Given the description of an element on the screen output the (x, y) to click on. 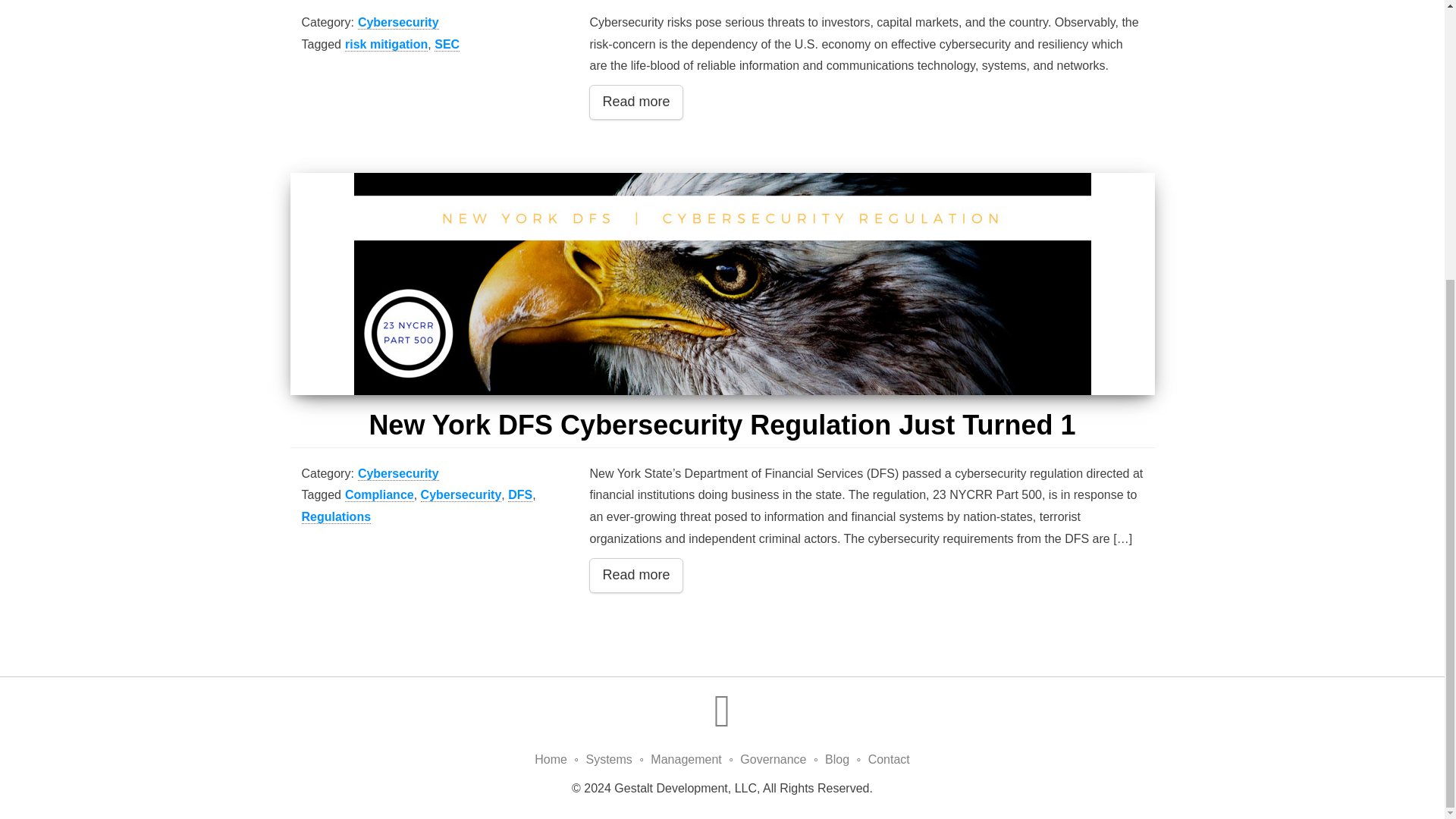
Read more (635, 102)
Cybersecurity (398, 473)
Follow us on LinkedIn (722, 721)
Contact (888, 758)
New York DFS Cybersecurity Regulation Just Turned 1 (721, 424)
DFS (520, 495)
Compliance (379, 495)
New York DFS Cybersecurity Regulation Just Turned 1 (721, 424)
Regulations (336, 517)
Read more (635, 574)
Cybersecurity (461, 495)
Blog (836, 758)
Home (550, 758)
SEC (446, 44)
